Given the description of an element on the screen output the (x, y) to click on. 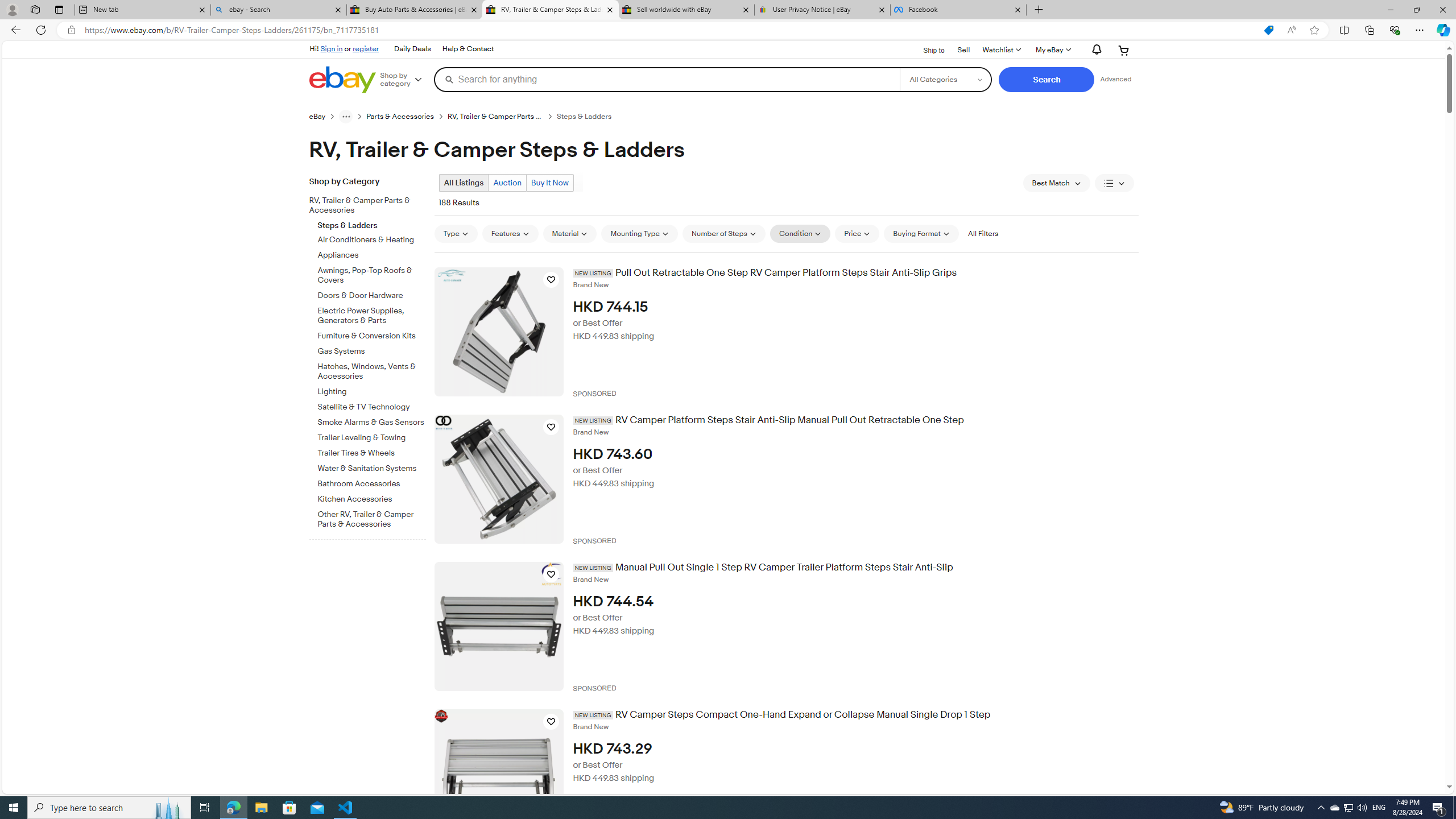
Buy Auto Parts & Accessories | eBay (414, 9)
All Listings Current view (464, 182)
Doors & Door Hardware (371, 295)
WatchlistExpand Watch List (1000, 49)
Notifications (1093, 49)
Awnings, Pop-Top Roofs & Covers (371, 275)
Lighting (371, 391)
Sort: Best Match (1056, 182)
Auction (507, 182)
Bathroom Accessories (371, 484)
User Privacy Notice | eBay (822, 9)
RV, Trailer & Camper Parts & Accessories (371, 203)
AutomationID: gh-eb-Alerts (1094, 49)
